Given the description of an element on the screen output the (x, y) to click on. 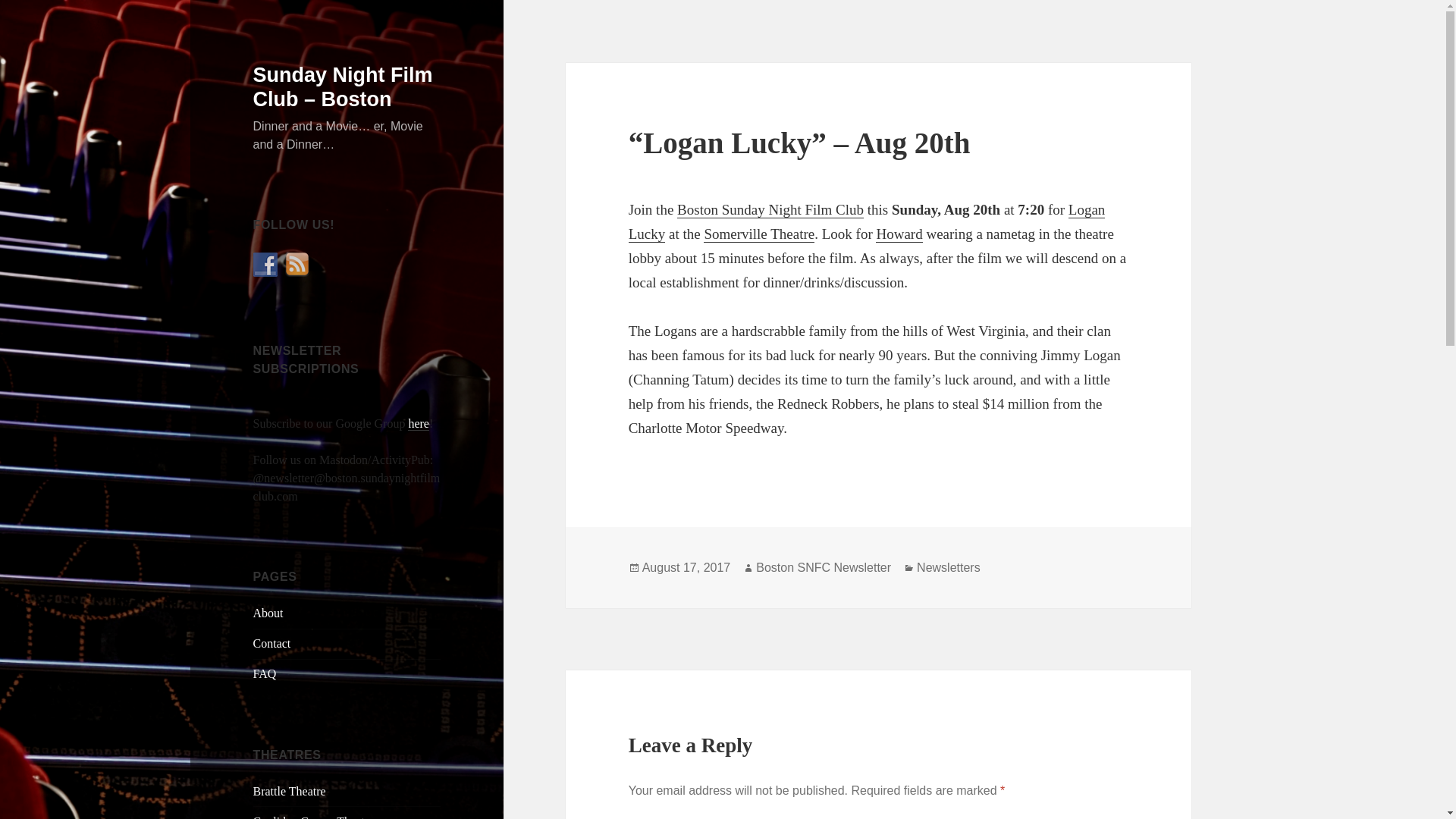
Logan Lucky (866, 221)
Newsletters (948, 567)
Follow Us on Facebook (265, 264)
Contact (272, 643)
Somerville Theatre (758, 234)
About (268, 612)
Howard (898, 234)
here (418, 423)
FAQ (264, 673)
August 17, 2017 (686, 567)
